Given the description of an element on the screen output the (x, y) to click on. 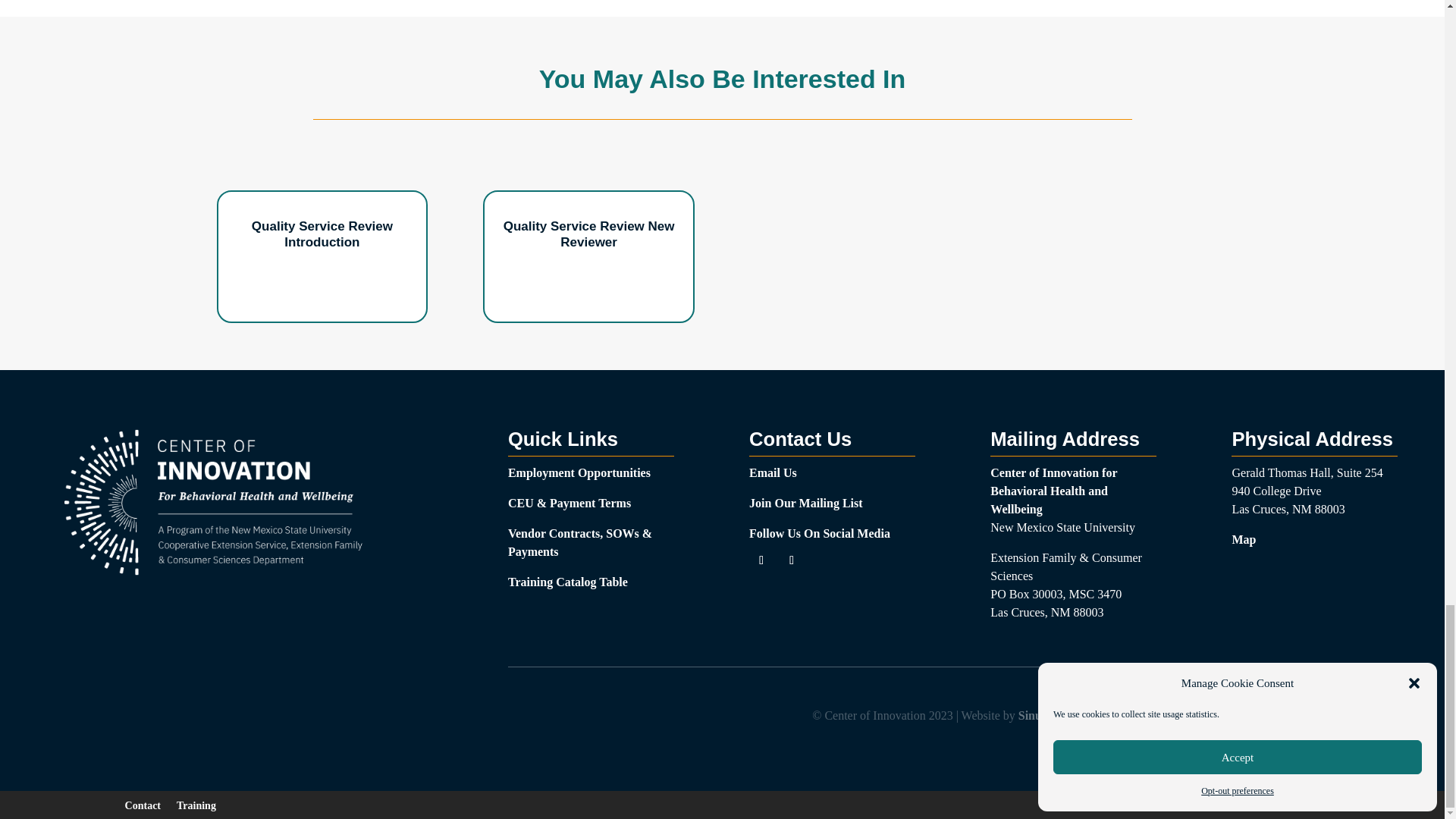
Quality Service Review New Reviewer (589, 233)
Follow on Instagram (790, 559)
Quality Service Review Introduction (322, 233)
Follow on Facebook (761, 559)
